Given the description of an element on the screen output the (x, y) to click on. 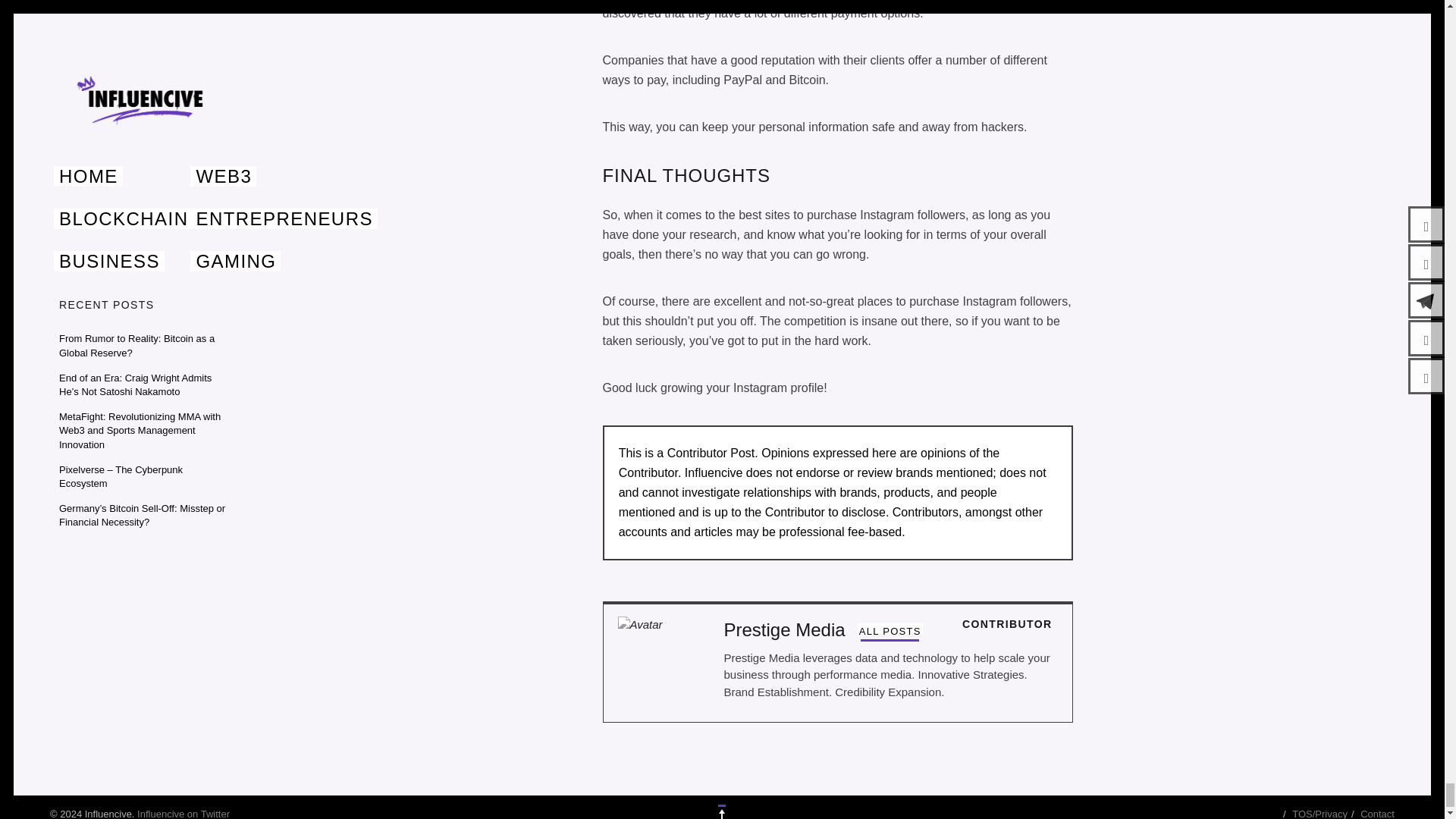
View all posts by Prestige Media (890, 631)
